Given the description of an element on the screen output the (x, y) to click on. 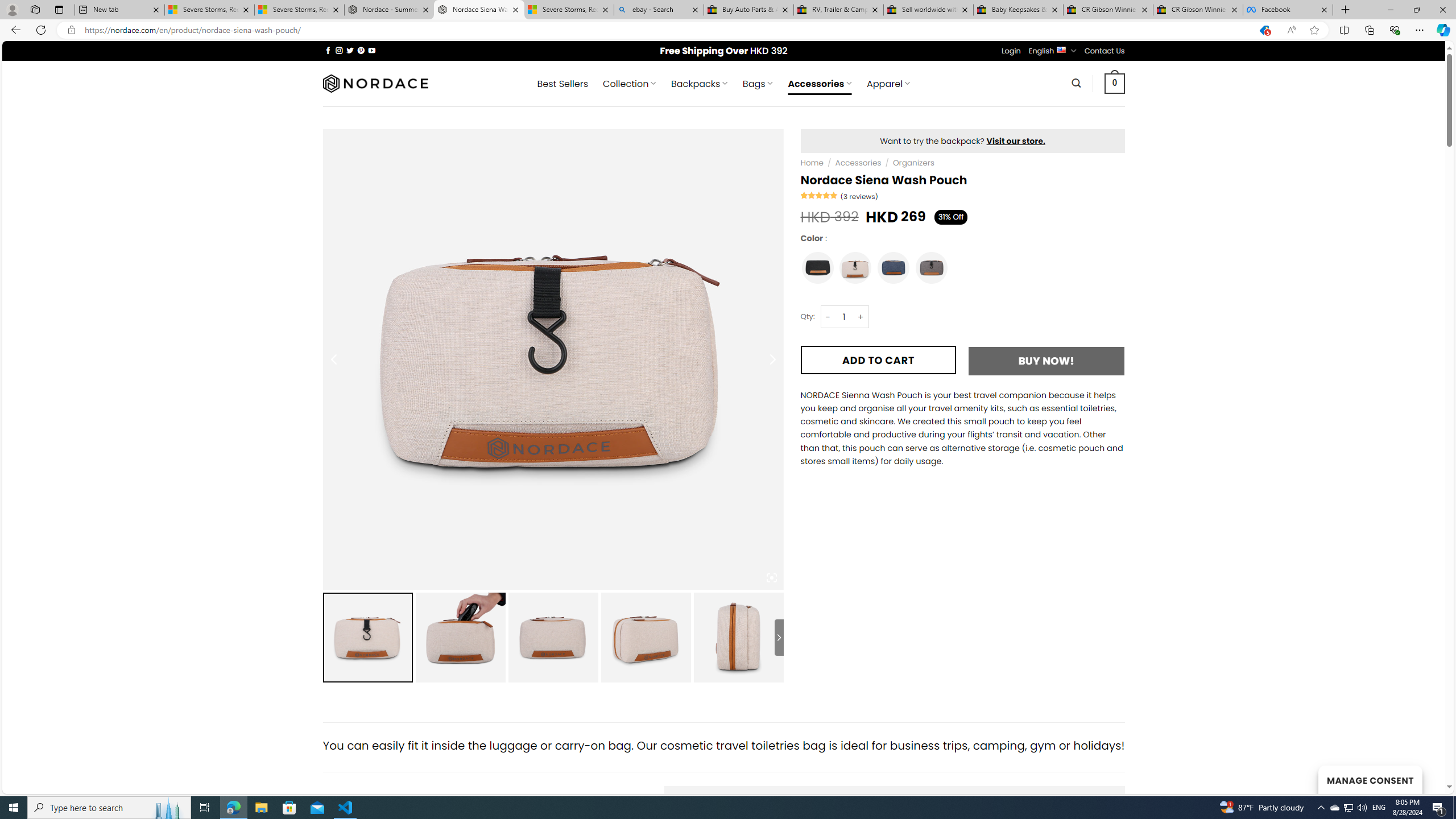
Buy Auto Parts & Accessories | eBay (747, 9)
 0  (1115, 83)
Organizers (913, 162)
Sell worldwide with eBay (928, 9)
  0   (1115, 83)
